Given the description of an element on the screen output the (x, y) to click on. 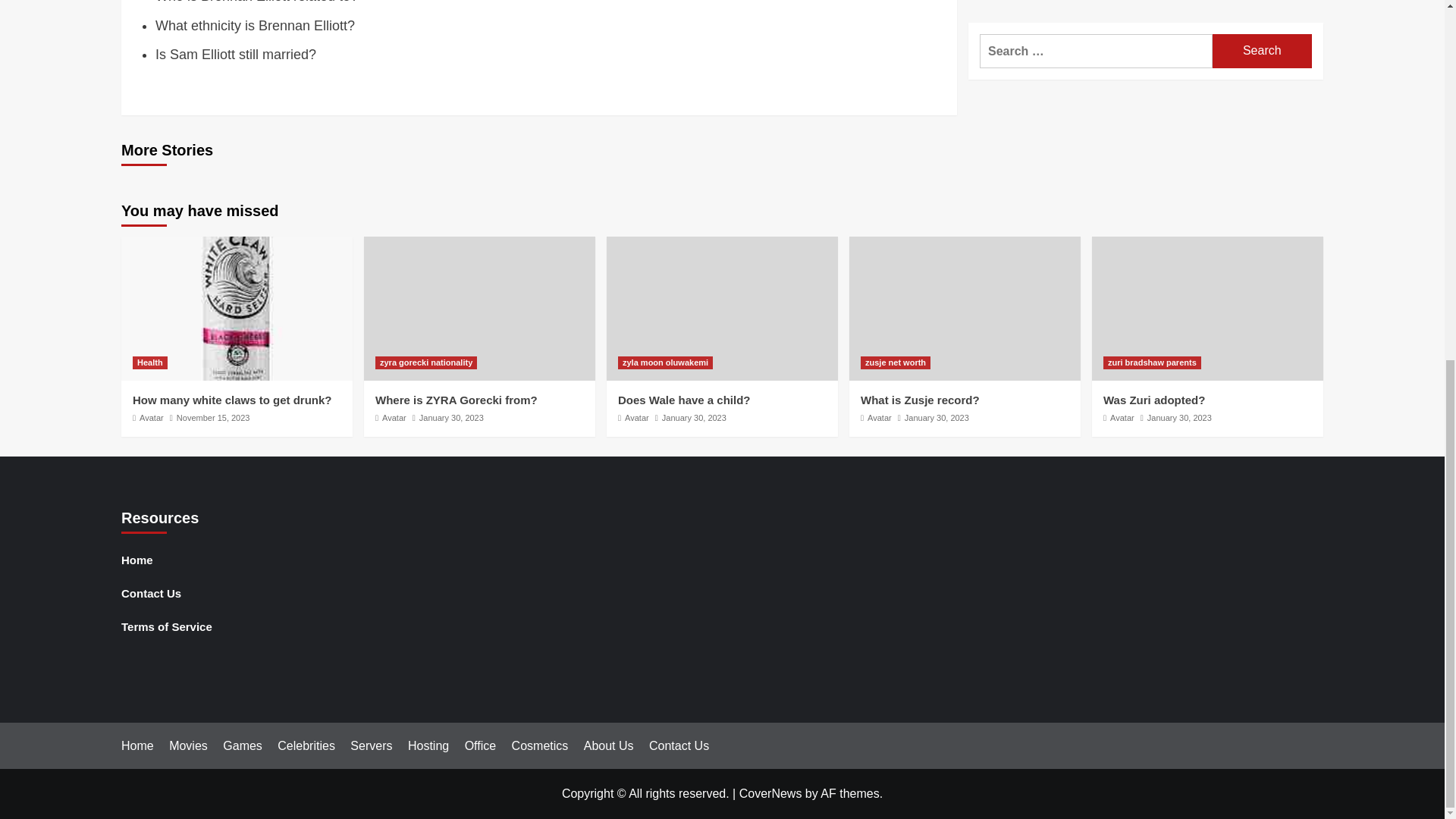
Where is ZYRA Gorecki from? (456, 399)
Does Wale have a child? (684, 399)
January 30, 2023 (451, 417)
How many white claws to get drunk? (231, 399)
Avatar (393, 417)
What ethnicity is Brennan Elliott? (255, 25)
Health (149, 362)
Who is Brennan Elliott related to? (256, 2)
Avatar (636, 417)
January 30, 2023 (694, 417)
zyla moon oluwakemi (665, 362)
Is Sam Elliott still married? (235, 54)
zyra gorecki nationality (426, 362)
November 15, 2023 (213, 417)
Avatar (151, 417)
